Given the description of an element on the screen output the (x, y) to click on. 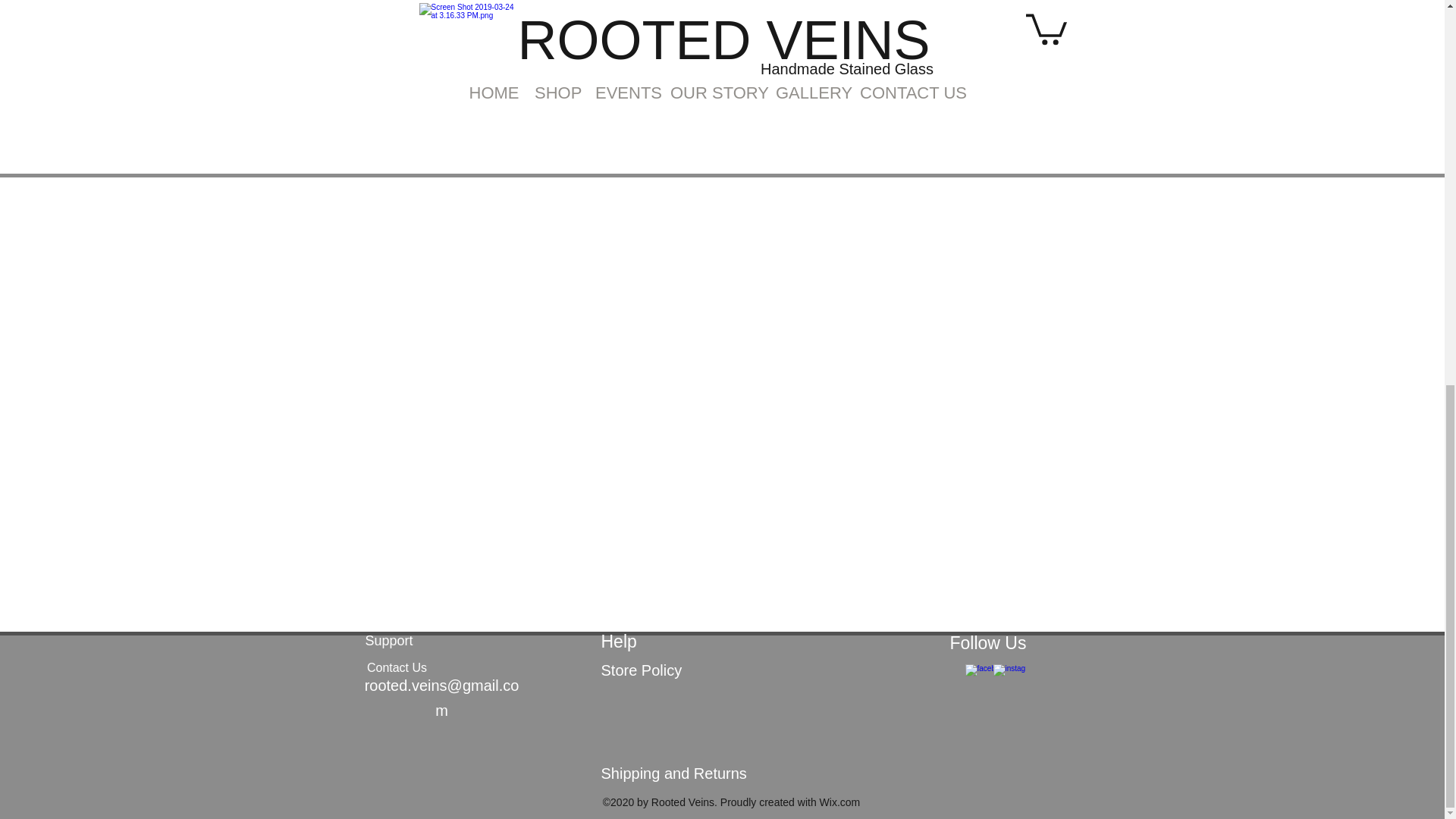
Store Policy (640, 670)
Shipping and Returns (672, 773)
Use right and left arrows to navigate between tabs (441, 18)
Use right and left arrows to navigate between tabs (532, 18)
